Given the description of an element on the screen output the (x, y) to click on. 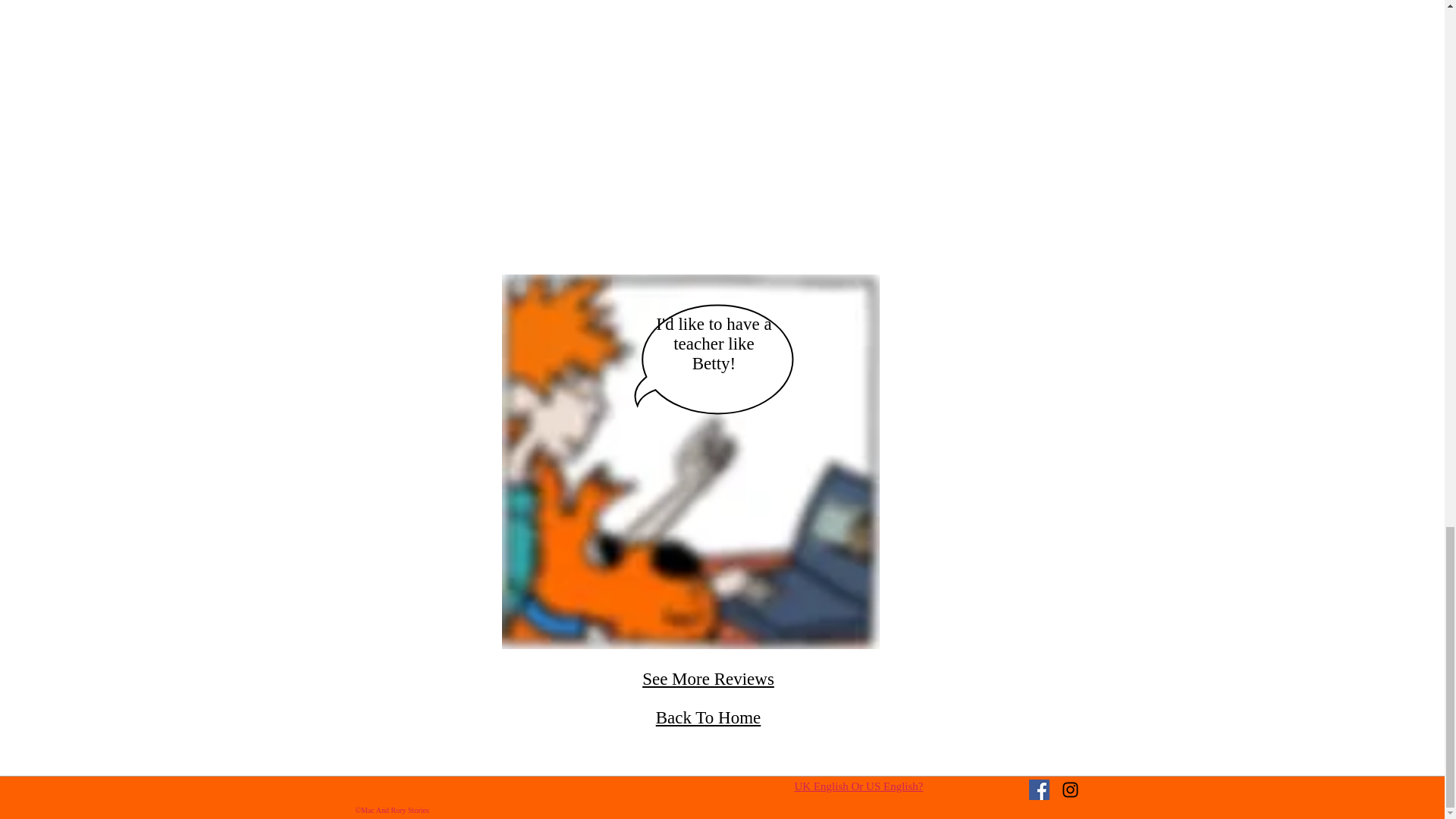
Back To Home (708, 717)
See More Reviews (708, 678)
